Given the description of an element on the screen output the (x, y) to click on. 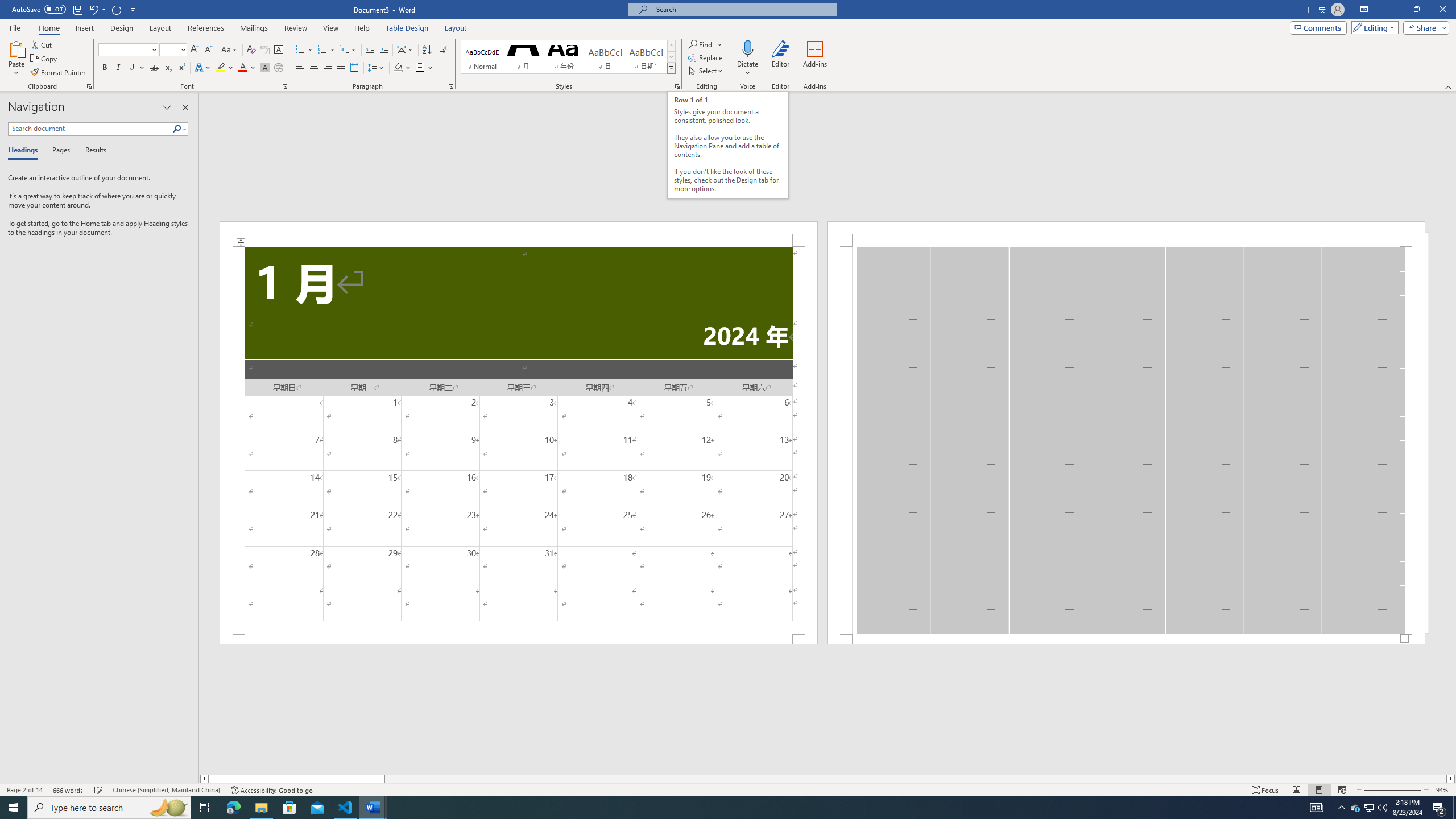
Column right (1450, 778)
